Given the description of an element on the screen output the (x, y) to click on. 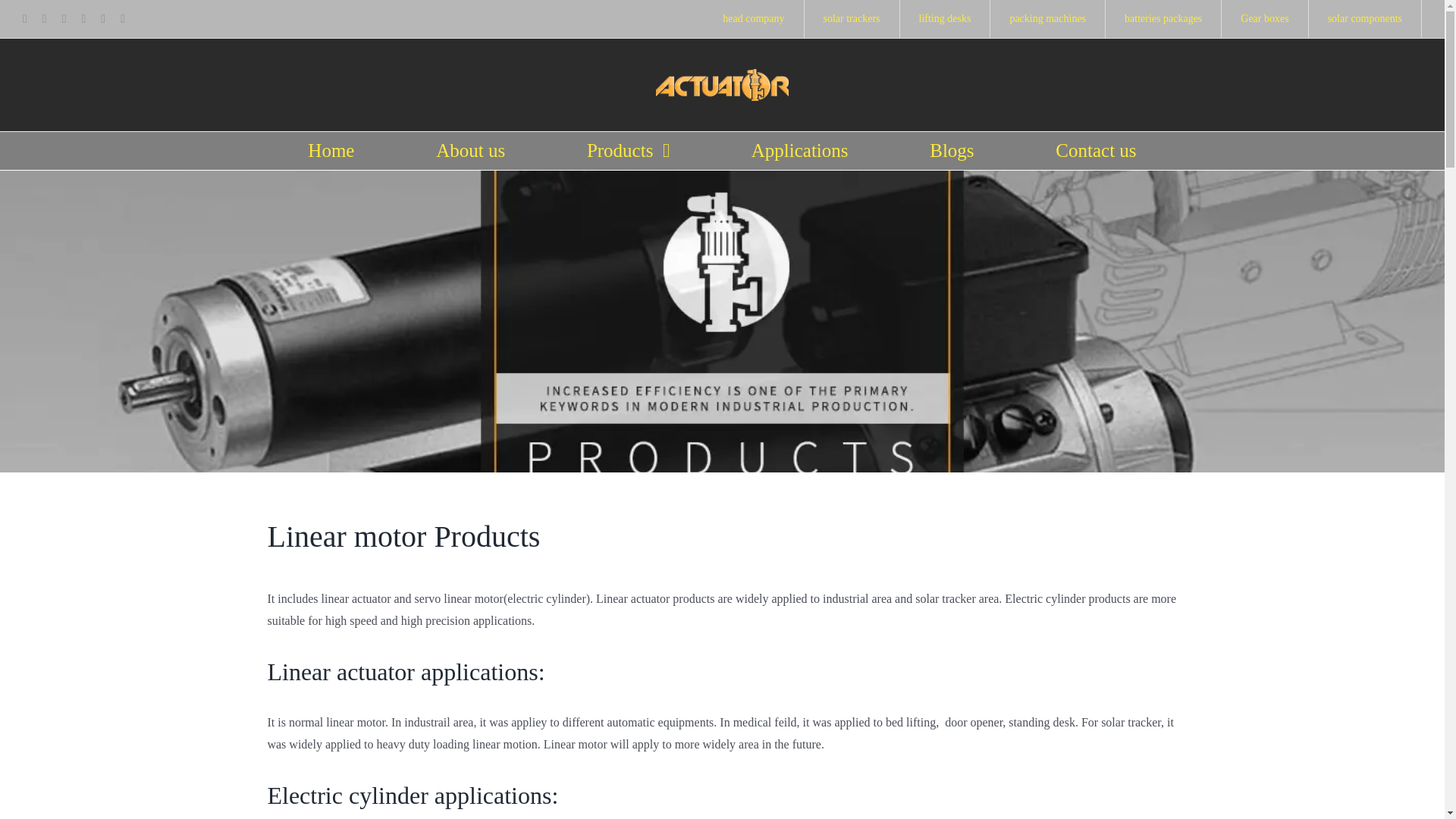
Home (330, 150)
solar components (1365, 18)
batteries packages (1163, 18)
solar trackers (851, 18)
Contact us (1095, 150)
lifting desks (945, 18)
head company (753, 18)
packing machines (1047, 18)
Products (627, 150)
Blogs (951, 150)
